Given the description of an element on the screen output the (x, y) to click on. 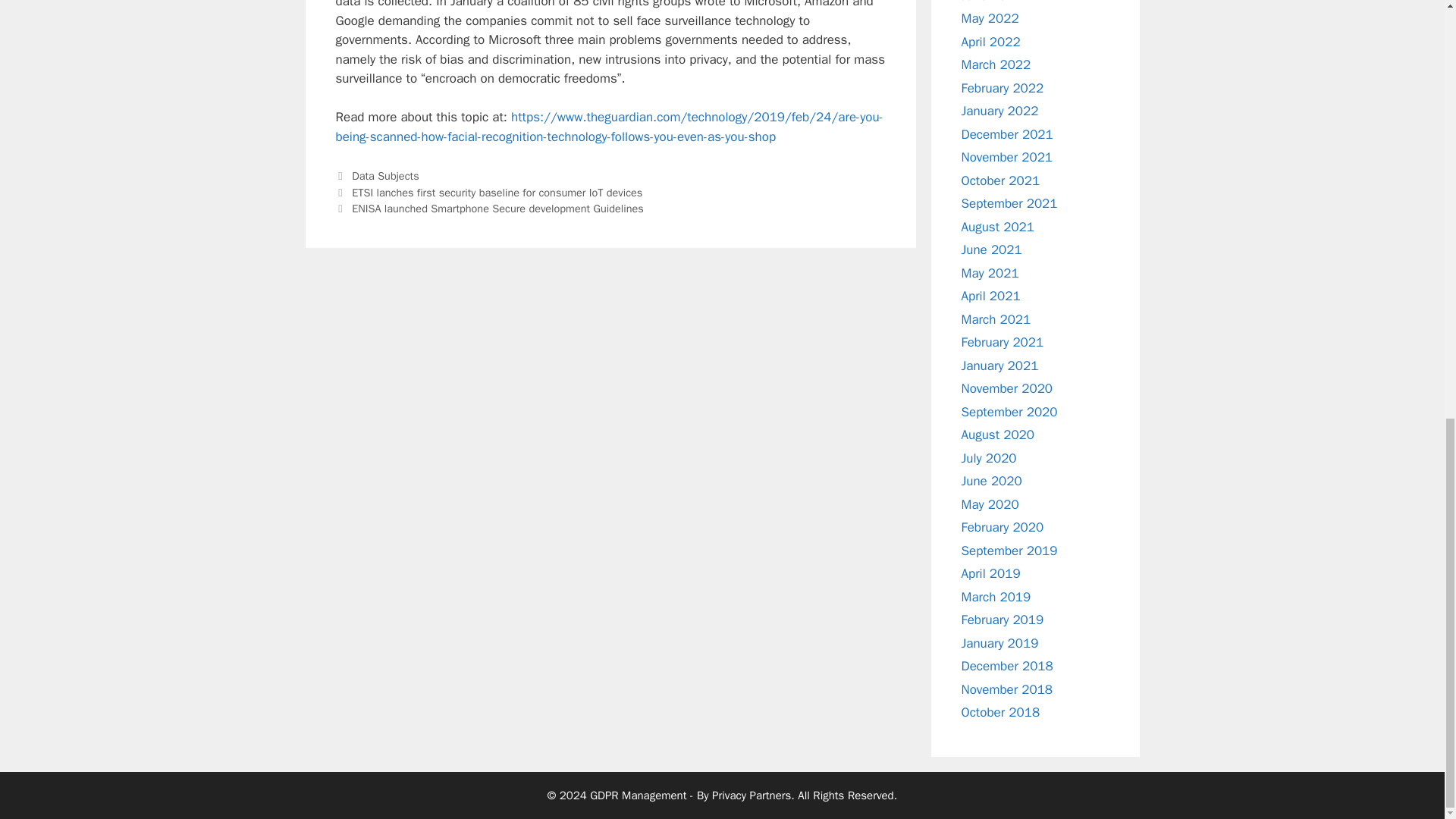
May 2022 (989, 18)
June 2022 (991, 1)
ENISA launched Smartphone Secure development Guidelines (497, 208)
Data Subjects (385, 175)
April 2022 (990, 41)
